Given the description of an element on the screen output the (x, y) to click on. 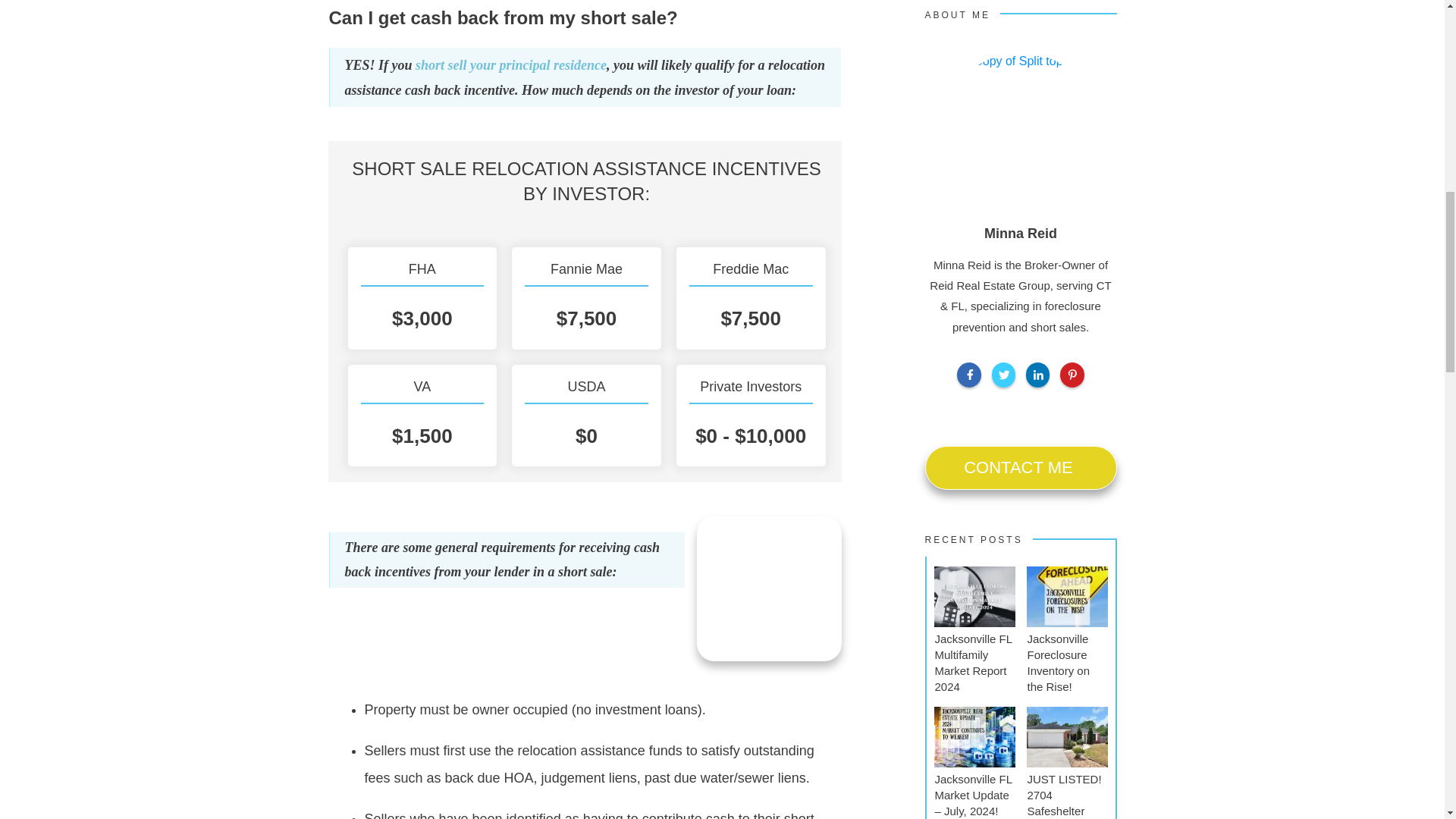
short sell your principal residence (510, 64)
Jacksonville Foreclosure Inventory on the Rise! (1057, 662)
Copy of Split top 02 (1020, 127)
Minna Reid (1020, 233)
Jacksonville FL Multifamily Market Report 2024 (972, 662)
how do realtors get paid in short sales (769, 588)
